Given the description of an element on the screen output the (x, y) to click on. 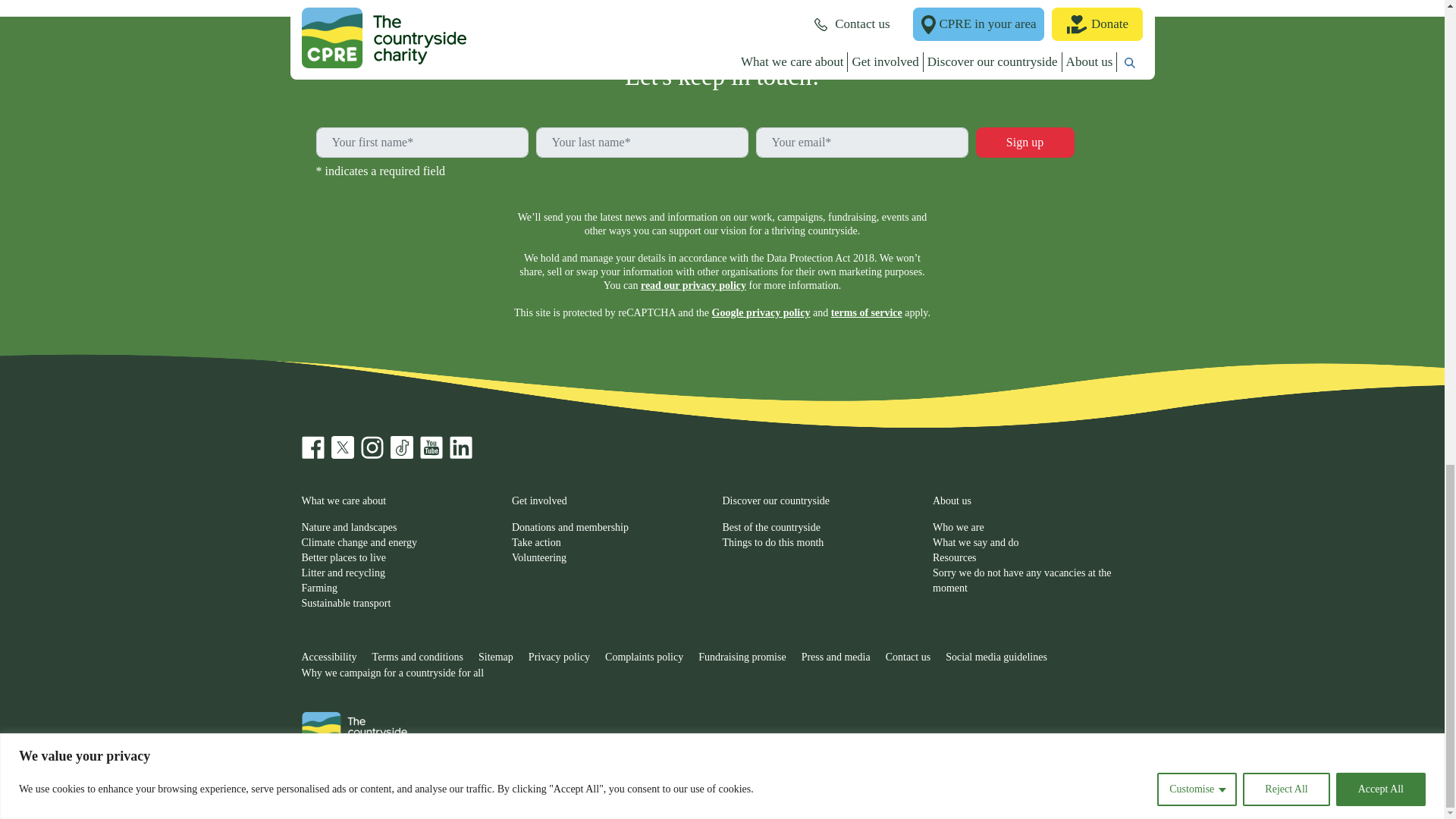
Sign up (1024, 142)
